Given the description of an element on the screen output the (x, y) to click on. 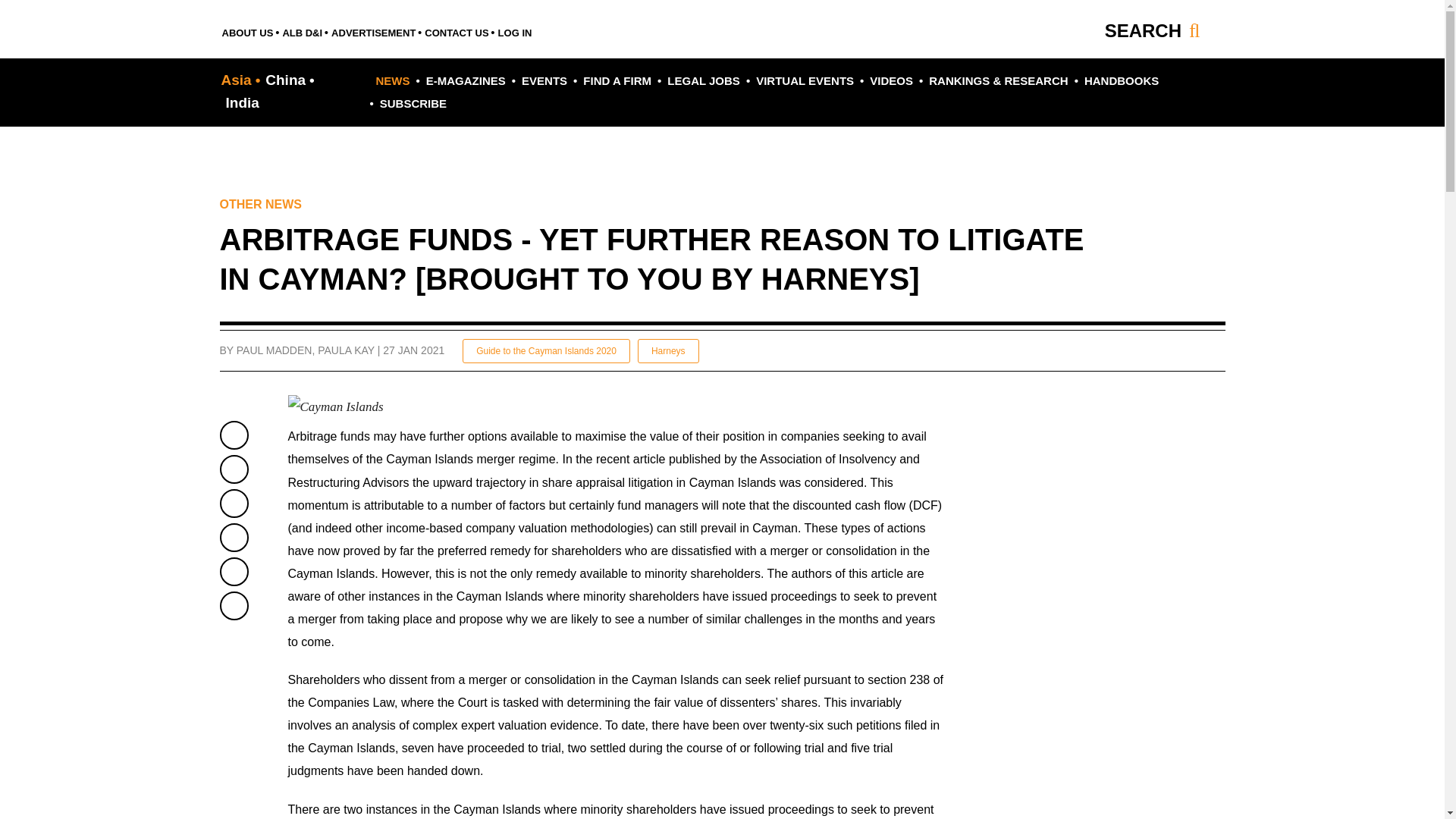
ABOUT US (249, 30)
FIND A FIRM (615, 80)
CONTACT US (456, 30)
LOG IN (515, 30)
LEGAL JOBS (701, 80)
NEWS (392, 80)
VIDEOS (889, 80)
VIRTUAL EVENTS (802, 80)
India (240, 102)
China (287, 79)
